Given the description of an element on the screen output the (x, y) to click on. 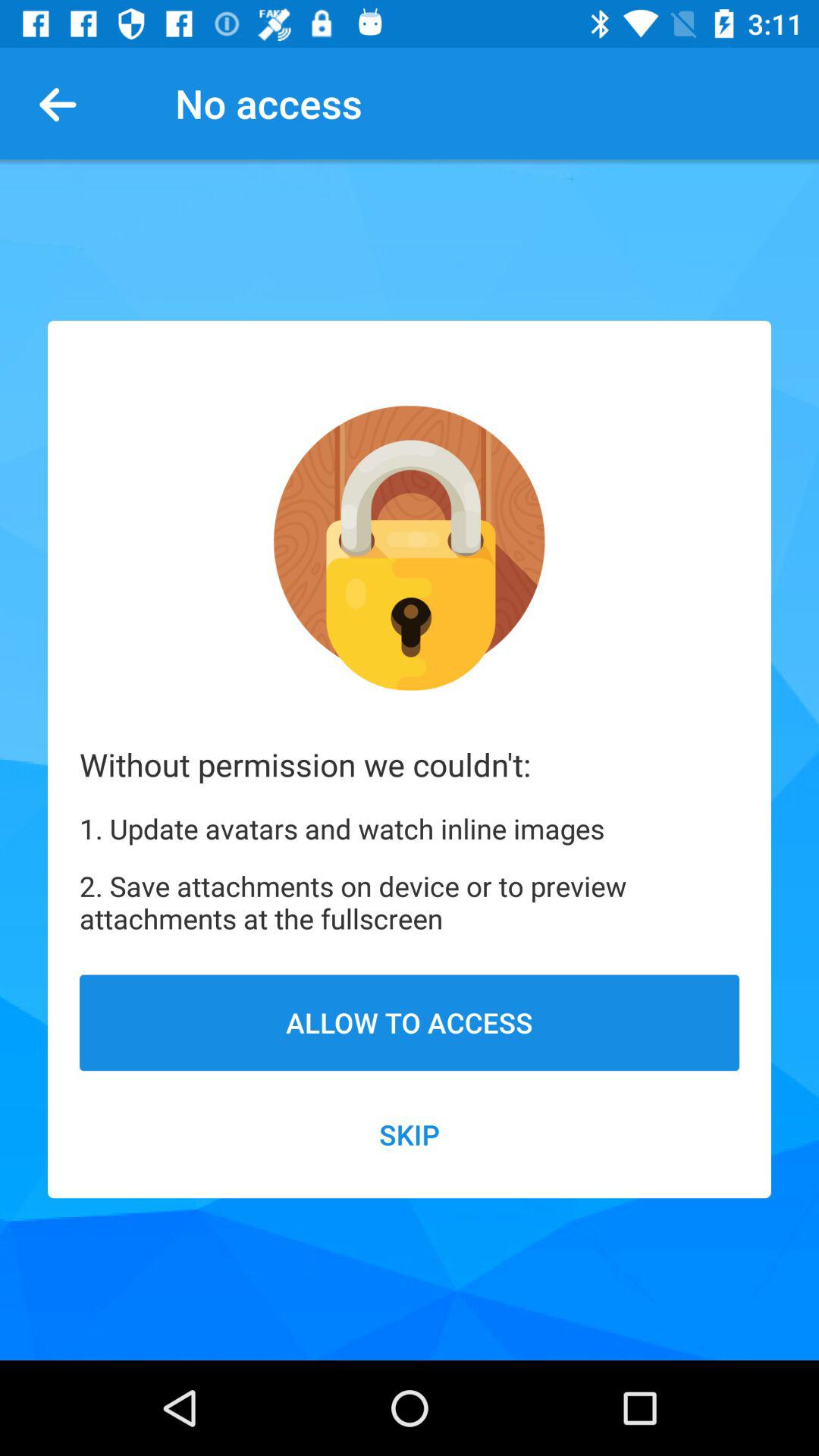
tap the icon above skip icon (409, 1022)
